Given the description of an element on the screen output the (x, y) to click on. 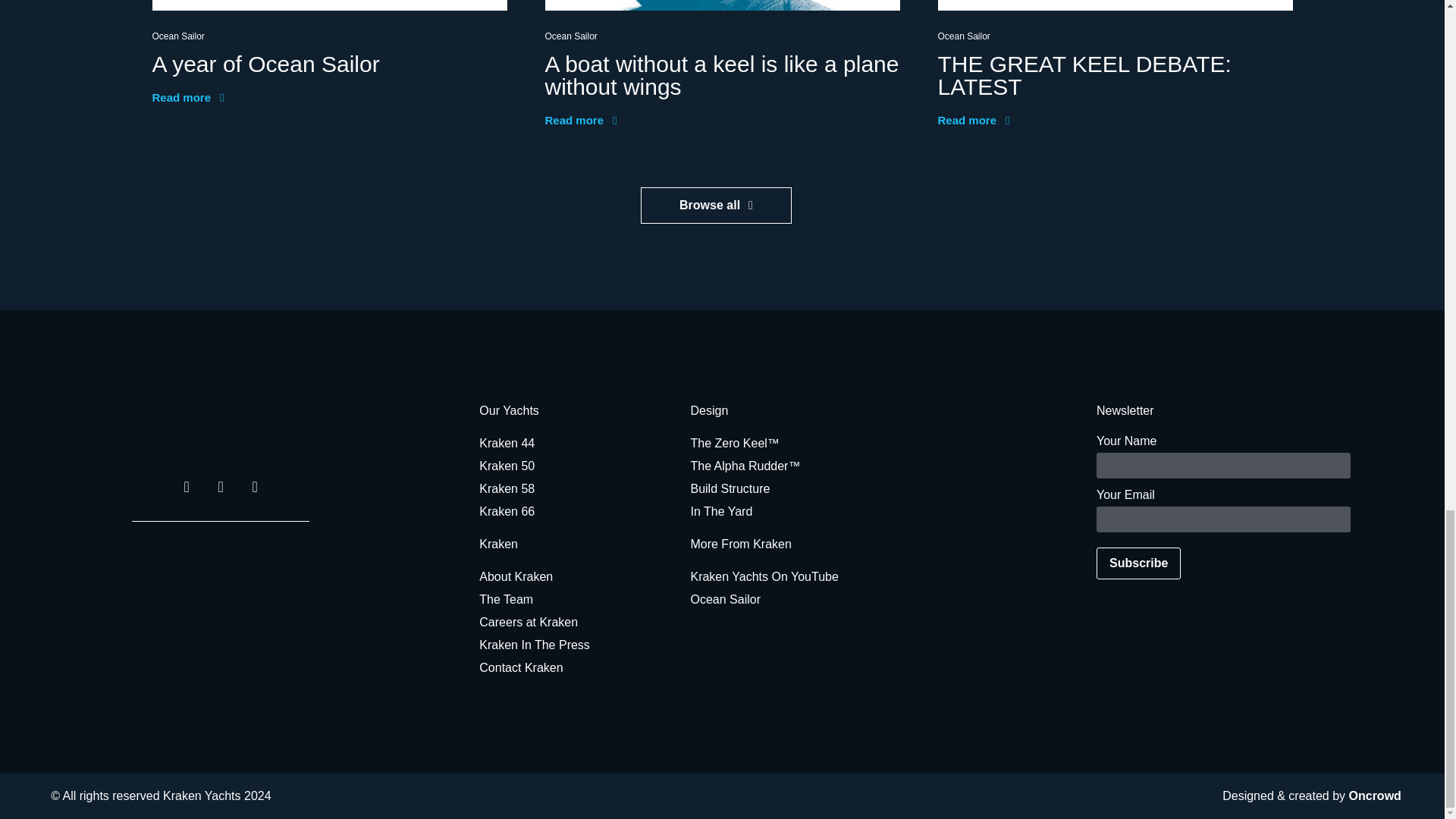
Read more (579, 120)
Browse all (716, 205)
A year of Ocean Sailor (264, 63)
Read more (973, 120)
Read more (187, 97)
THE GREAT KEEL DEBATE: LATEST (1083, 75)
A boat without a keel is like a plane without wings (721, 75)
